Given the description of an element on the screen output the (x, y) to click on. 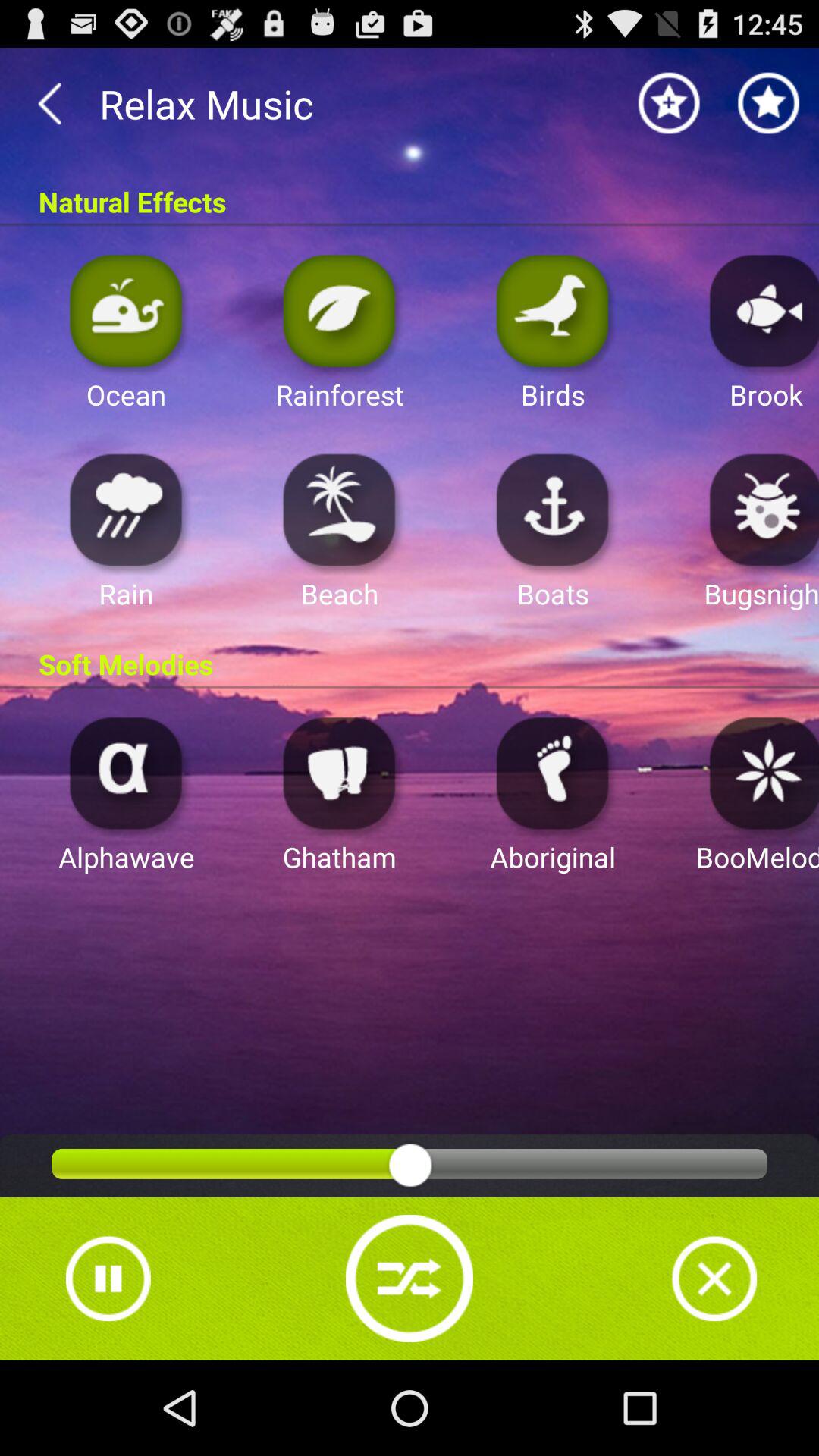
acess ocean music (126, 309)
